Given the description of an element on the screen output the (x, y) to click on. 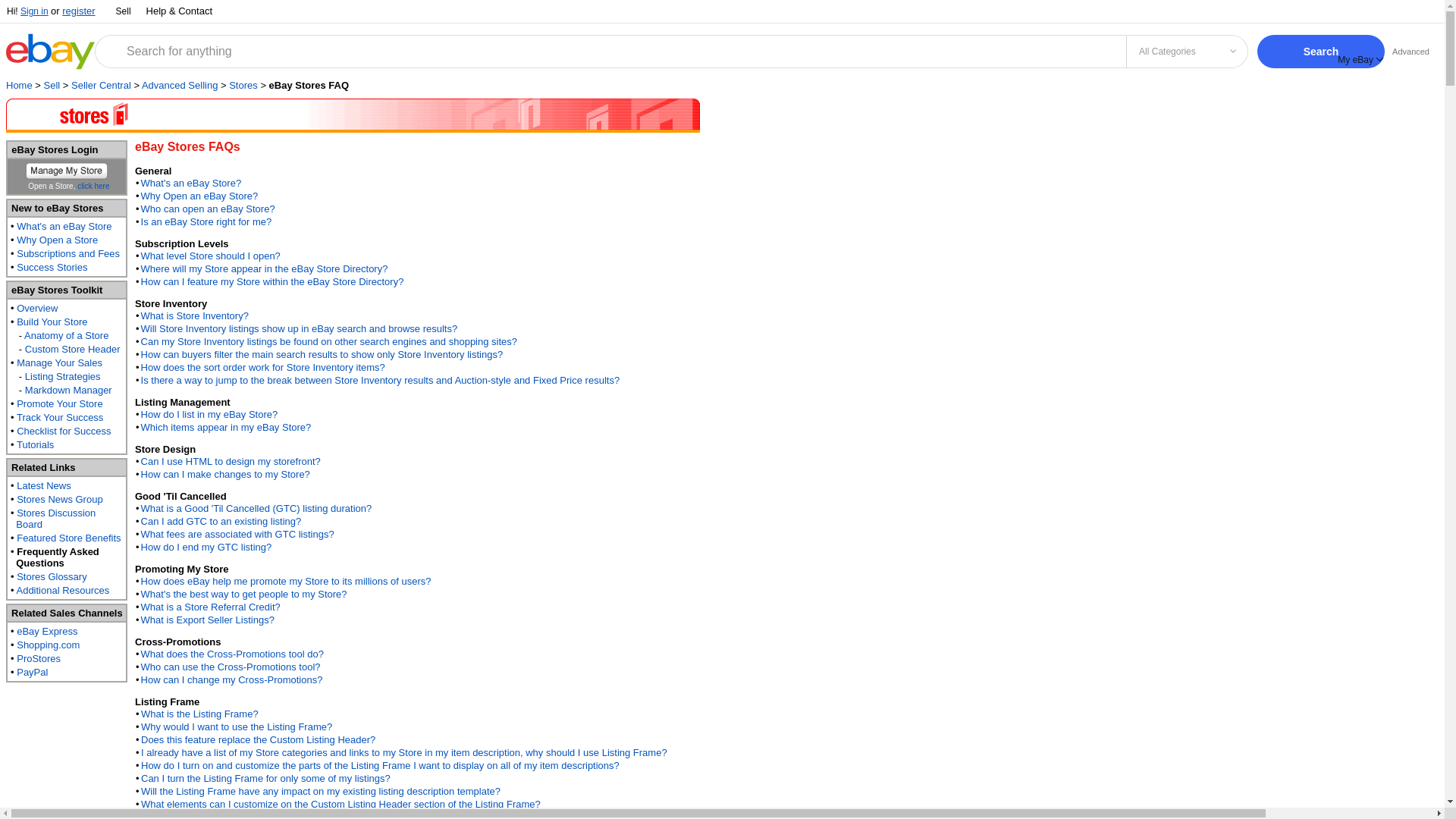
register (78, 10)
Track Your Success (59, 417)
Manage Your Sales (58, 362)
Promote Your Store (58, 403)
Checklist for Success (63, 430)
Seller Central (101, 84)
Advanced (1410, 51)
Sign in (34, 10)
Build Your Store (51, 321)
Sell (52, 84)
My eBay (1360, 59)
Search (1320, 51)
Custom Store Header (72, 348)
Stores (242, 84)
Listing Strategies (62, 376)
